Given the description of an element on the screen output the (x, y) to click on. 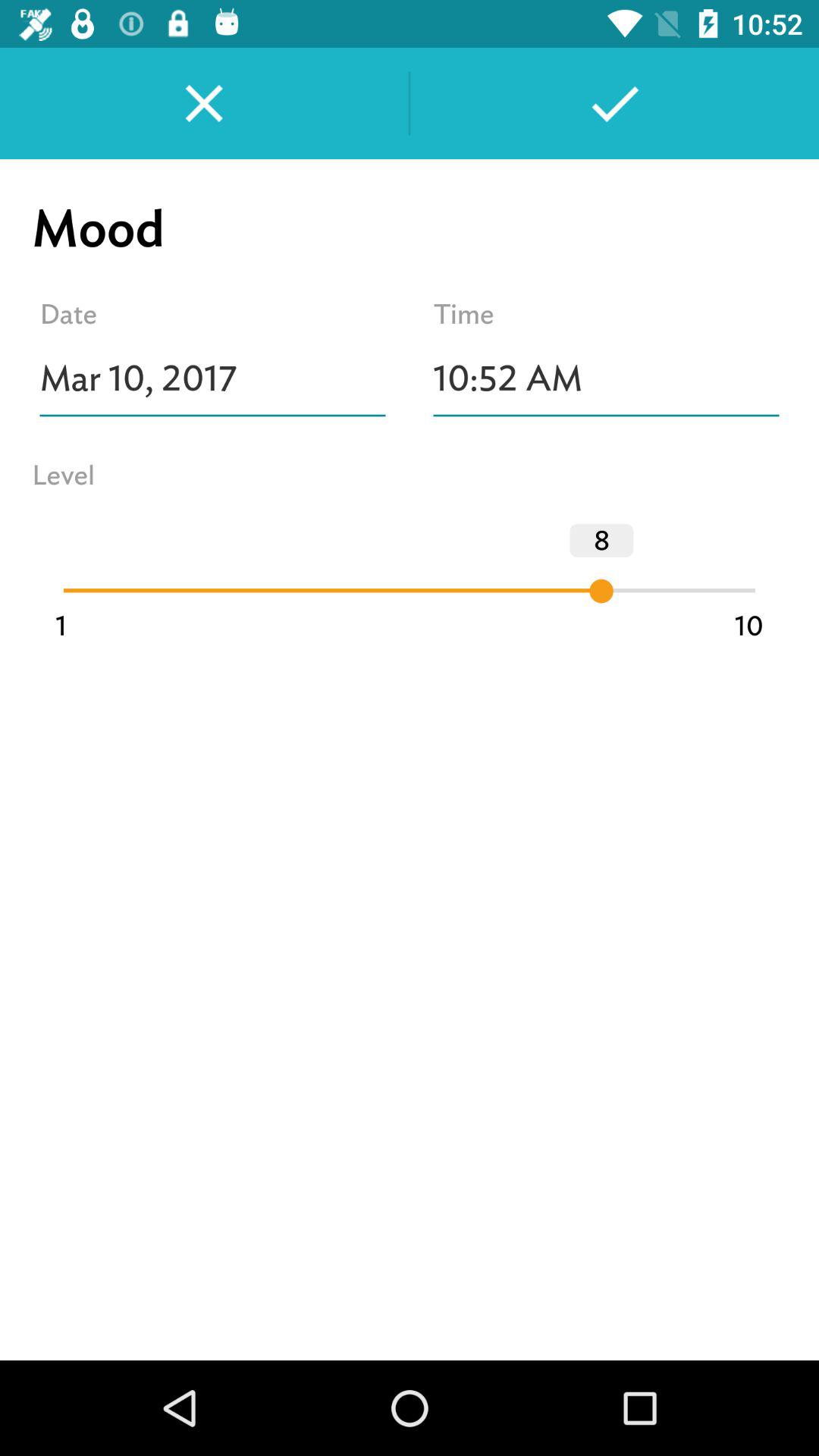
select item to the left of the 10:52 am icon (212, 378)
